Given the description of an element on the screen output the (x, y) to click on. 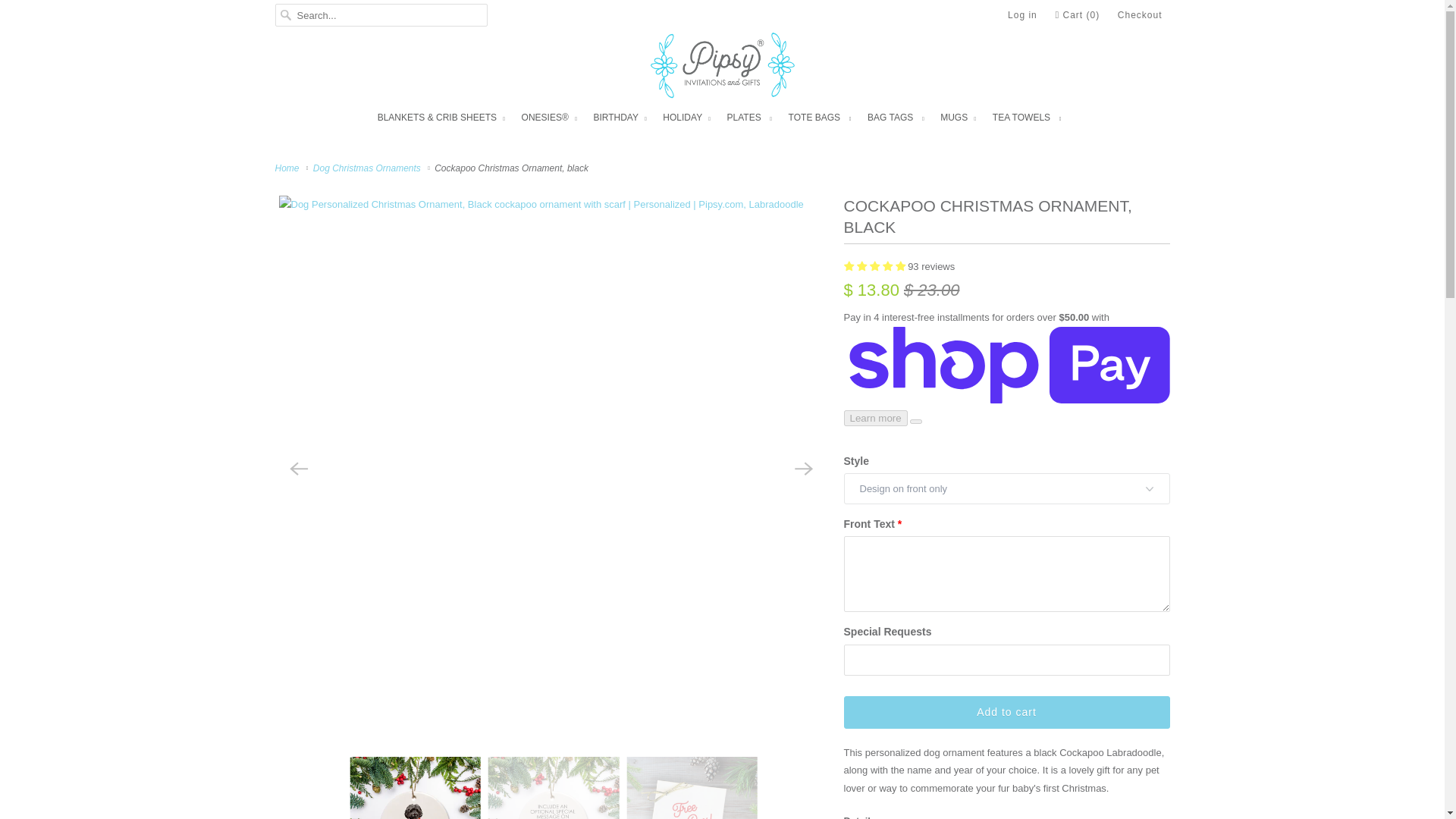
Pipsy (288, 167)
Dog Christmas Ornaments (369, 167)
Pipsy (722, 69)
